Given the description of an element on the screen output the (x, y) to click on. 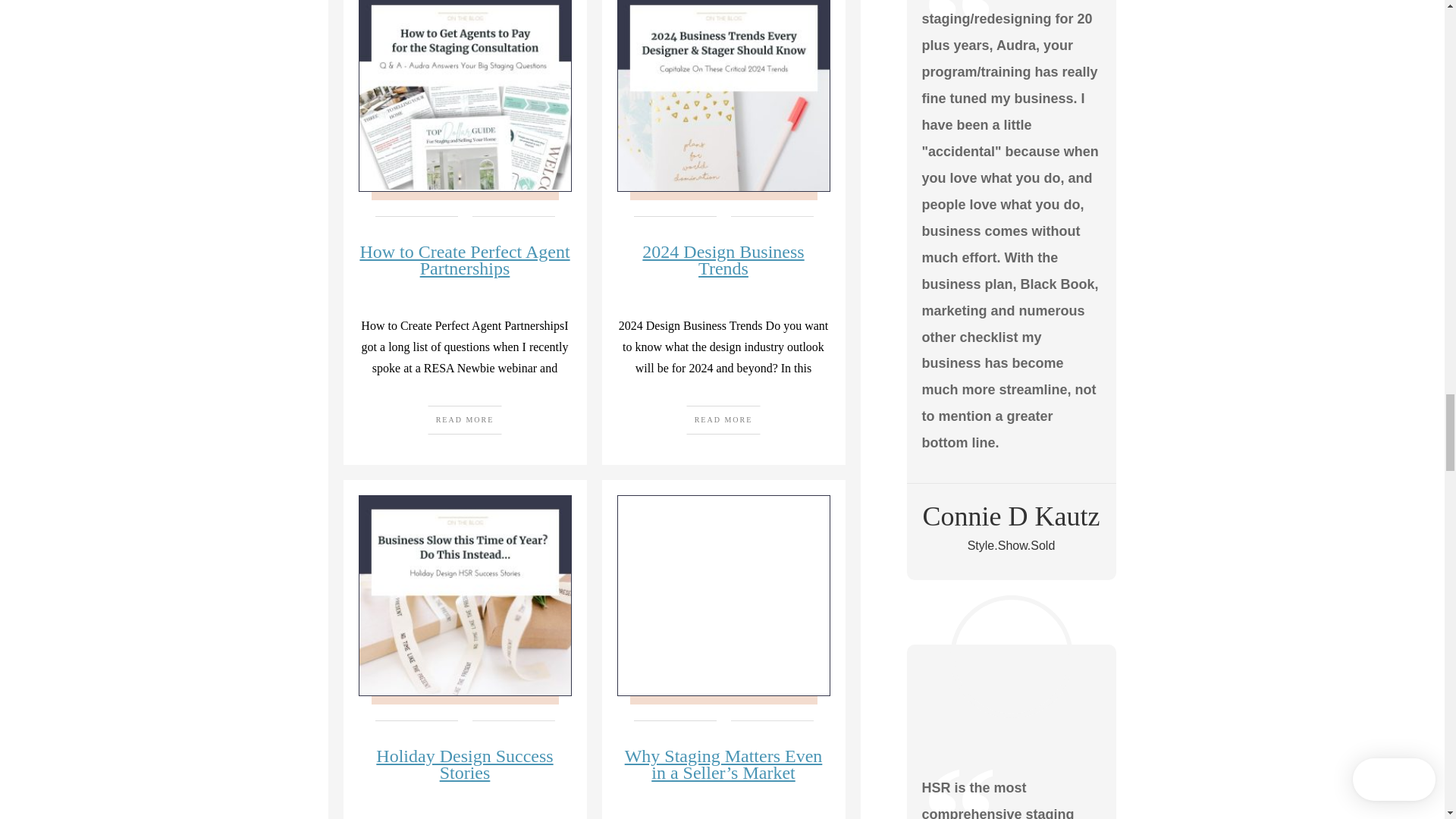
How to Create Perfect Agent Partnerships (464, 259)
Holiday Design Success Stories (464, 764)
2024 Design Business Trends (722, 259)
